Given the description of an element on the screen output the (x, y) to click on. 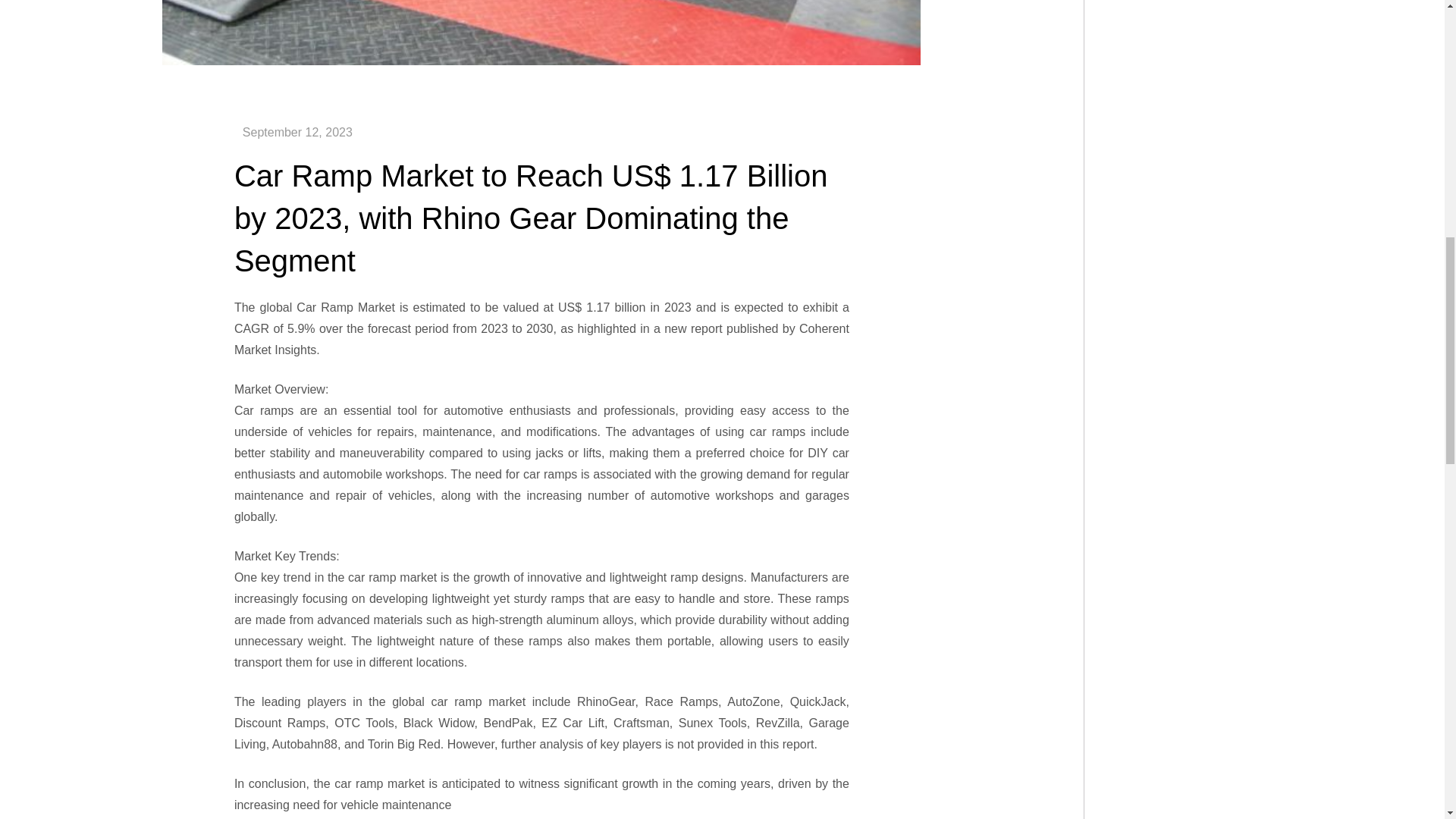
September 12, 2023 (297, 132)
